Given the description of an element on the screen output the (x, y) to click on. 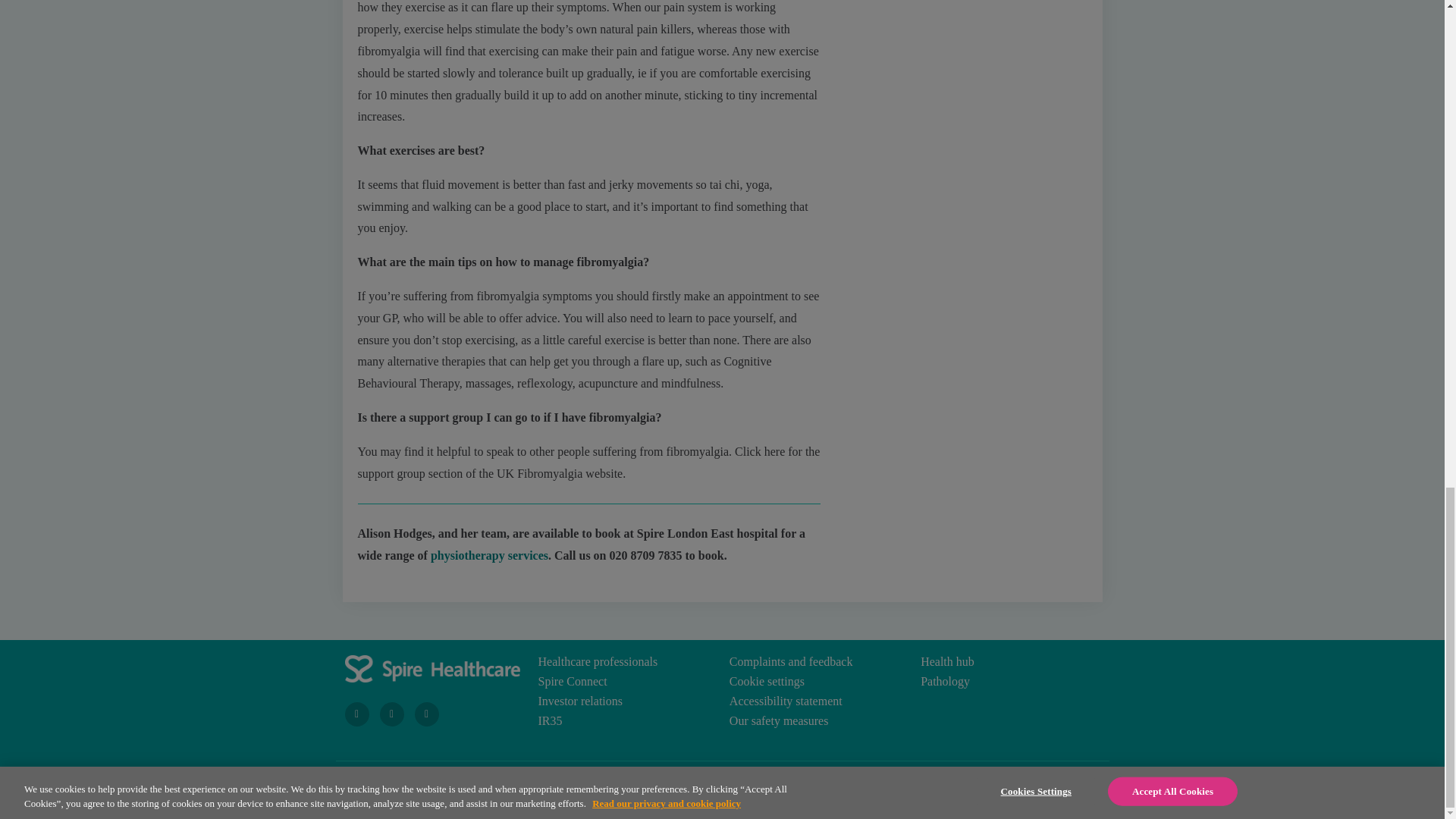
Spire London East Physiotherapy (489, 554)
